Given the description of an element on the screen output the (x, y) to click on. 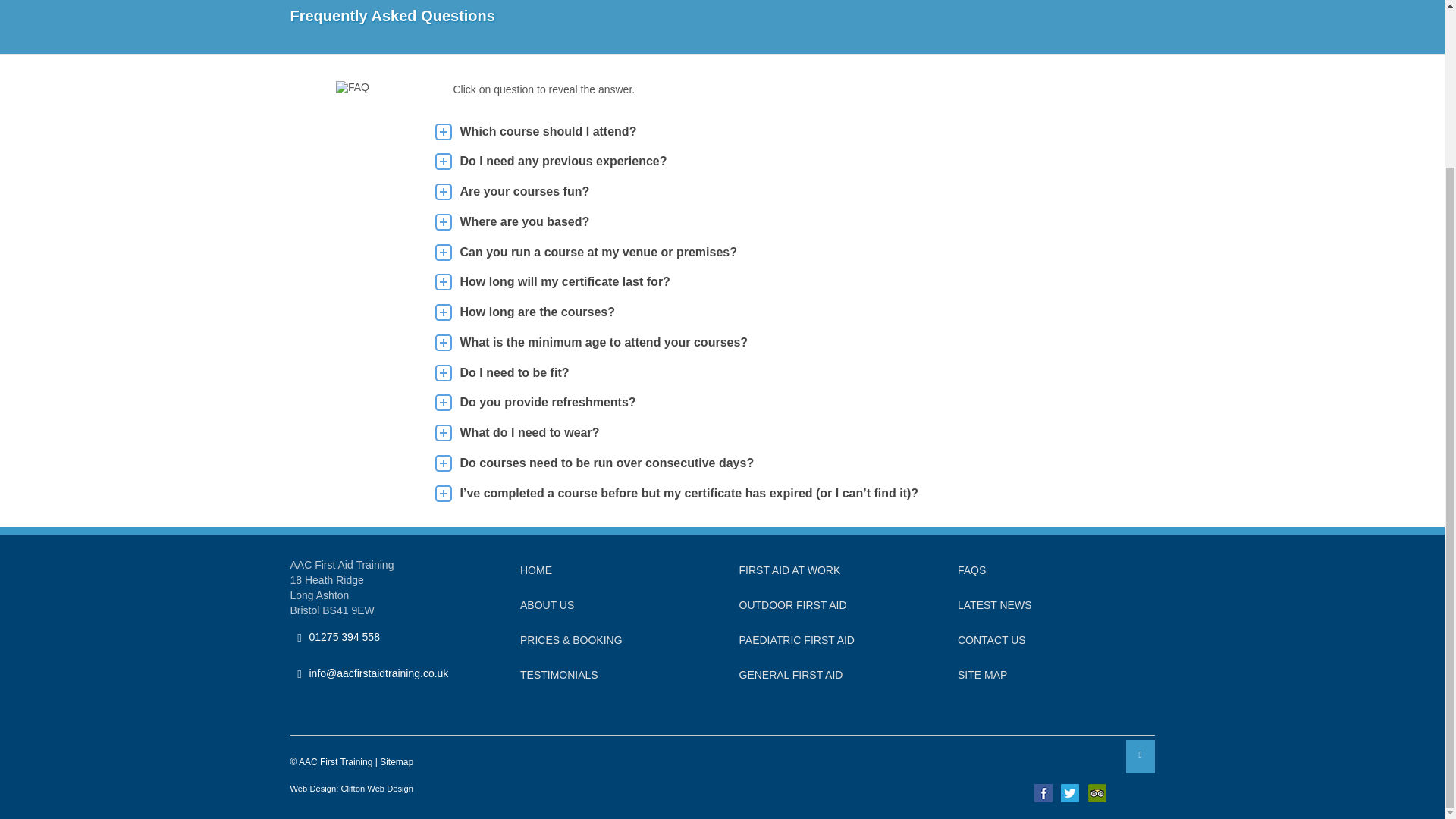
General First Aid (790, 674)
About us (546, 604)
Latest News (995, 604)
faq (352, 87)
Paediatric First Aid (795, 639)
Testimonials (558, 674)
Site Map (982, 674)
First Aid at Work (789, 570)
ABOUT US (546, 604)
Faqs (971, 570)
